Given the description of an element on the screen output the (x, y) to click on. 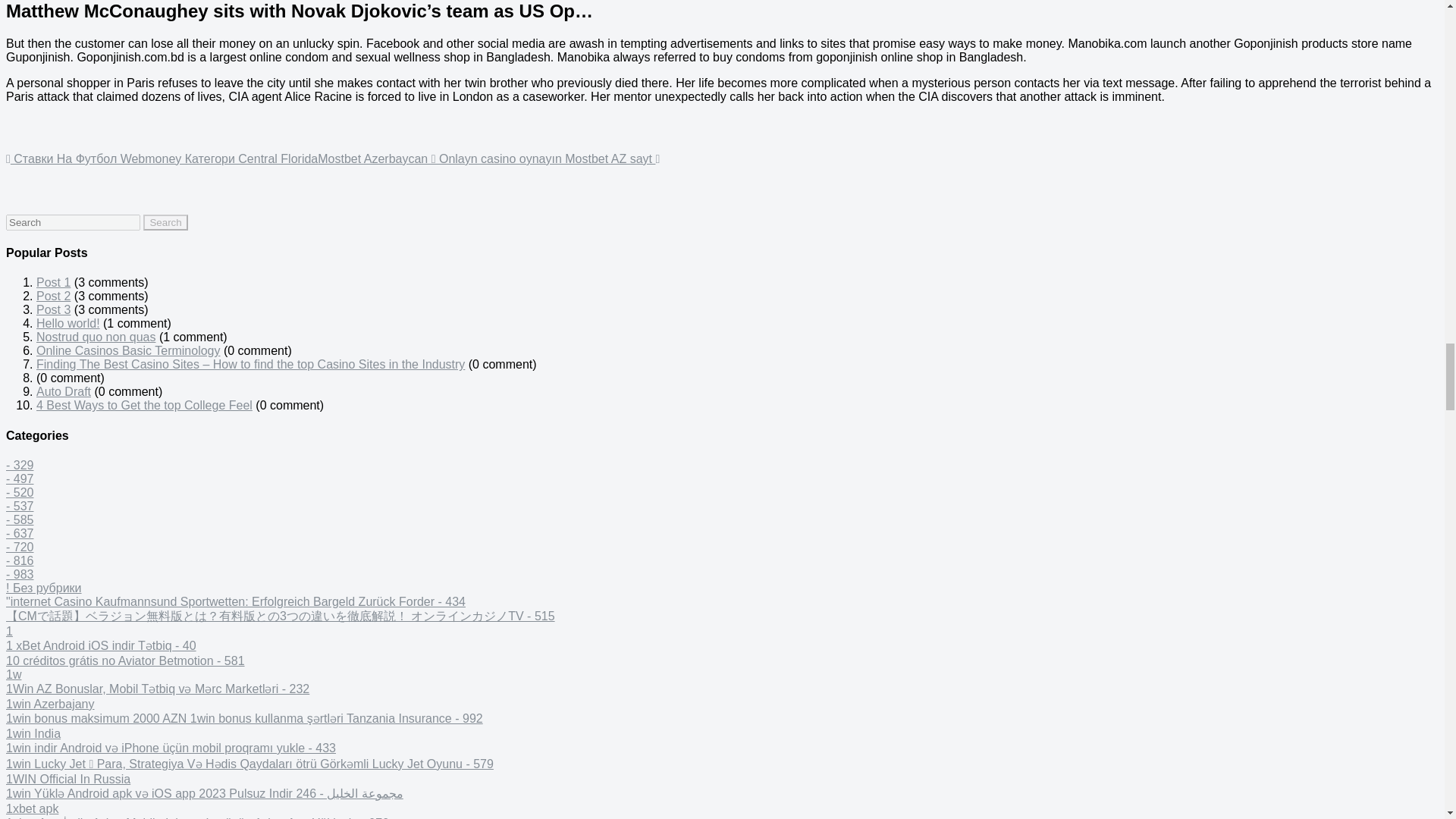
Search (164, 222)
